Given the description of an element on the screen output the (x, y) to click on. 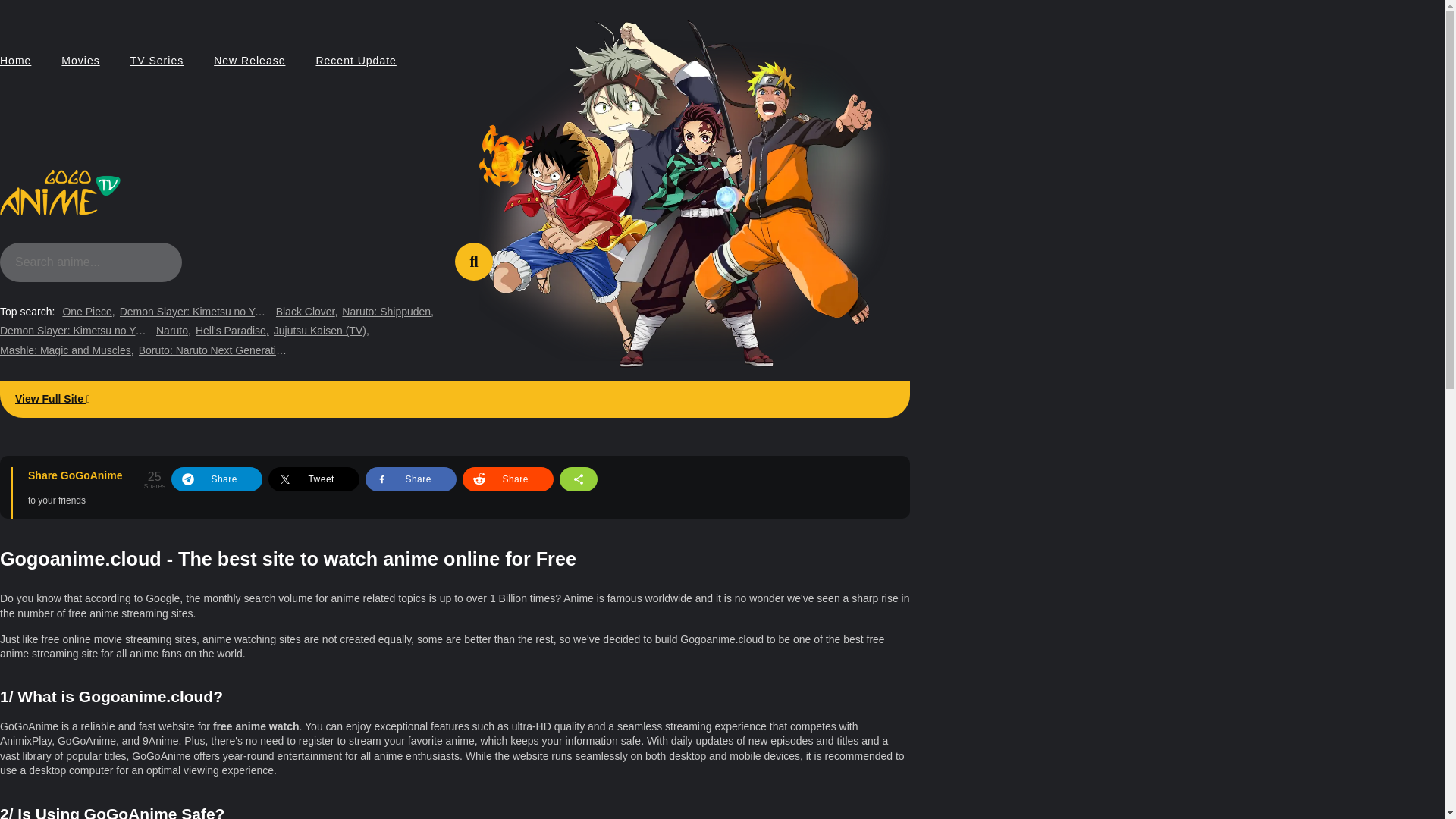
Black Clover (306, 312)
TV Series (157, 60)
Recent Update (355, 60)
New Release (249, 60)
Boruto: Naruto Next Generations (213, 350)
TV Series (157, 60)
One Piece (88, 312)
Mashle: Magic and Muscles (66, 350)
Recent Update (355, 60)
Naruto: Shippuden (387, 312)
Demon Slayer: Kimetsu no Yaiba (75, 331)
New Release (249, 60)
Demon Slayer: Kimetsu no Yaiba Swordsmith Village Arc (194, 312)
Hell's Paradise (232, 331)
Naruto (172, 331)
